Given the description of an element on the screen output the (x, y) to click on. 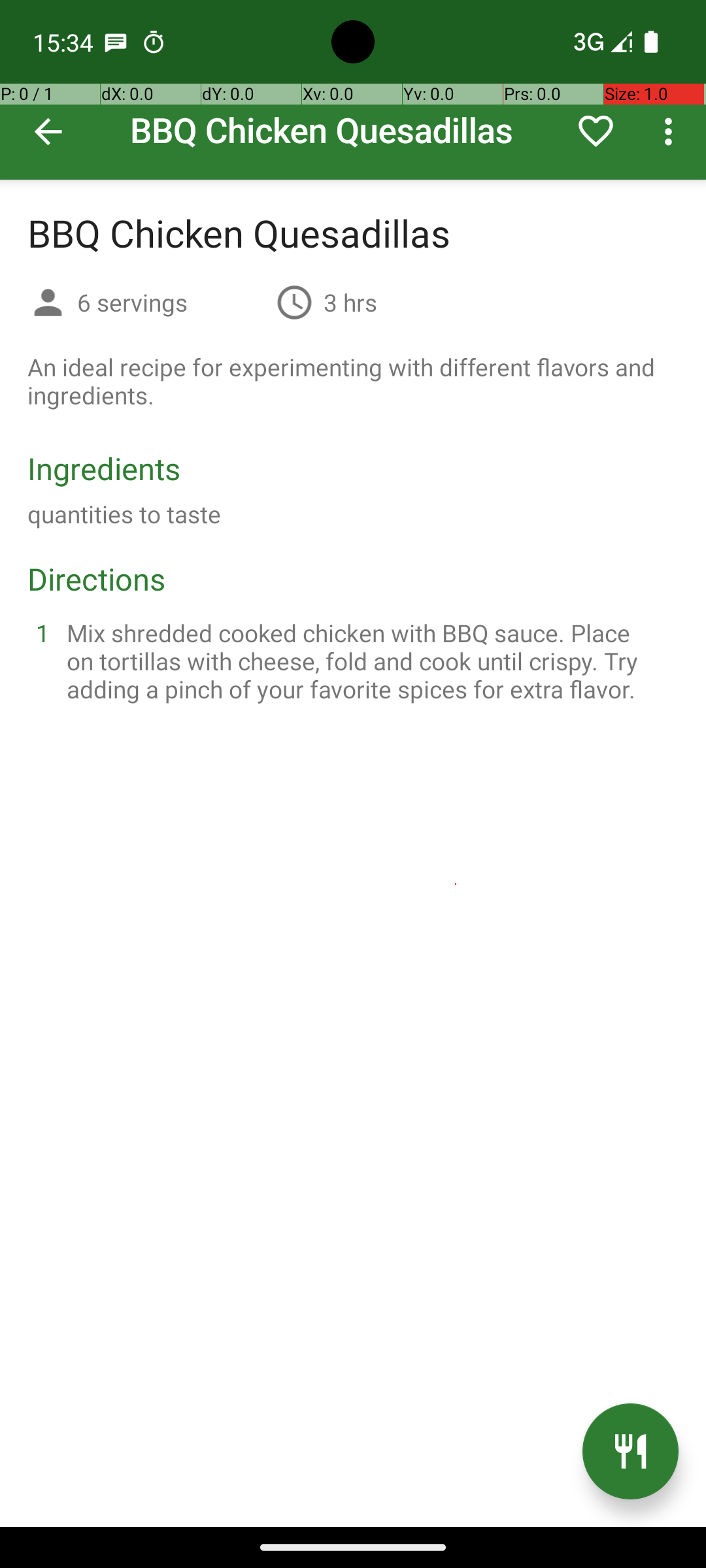
Mix shredded cooked chicken with BBQ sauce. Place on tortillas with cheese, fold and cook until crispy. Try adding a pinch of your favorite spices for extra flavor. Element type: android.widget.TextView (368, 660)
